Given the description of an element on the screen output the (x, y) to click on. 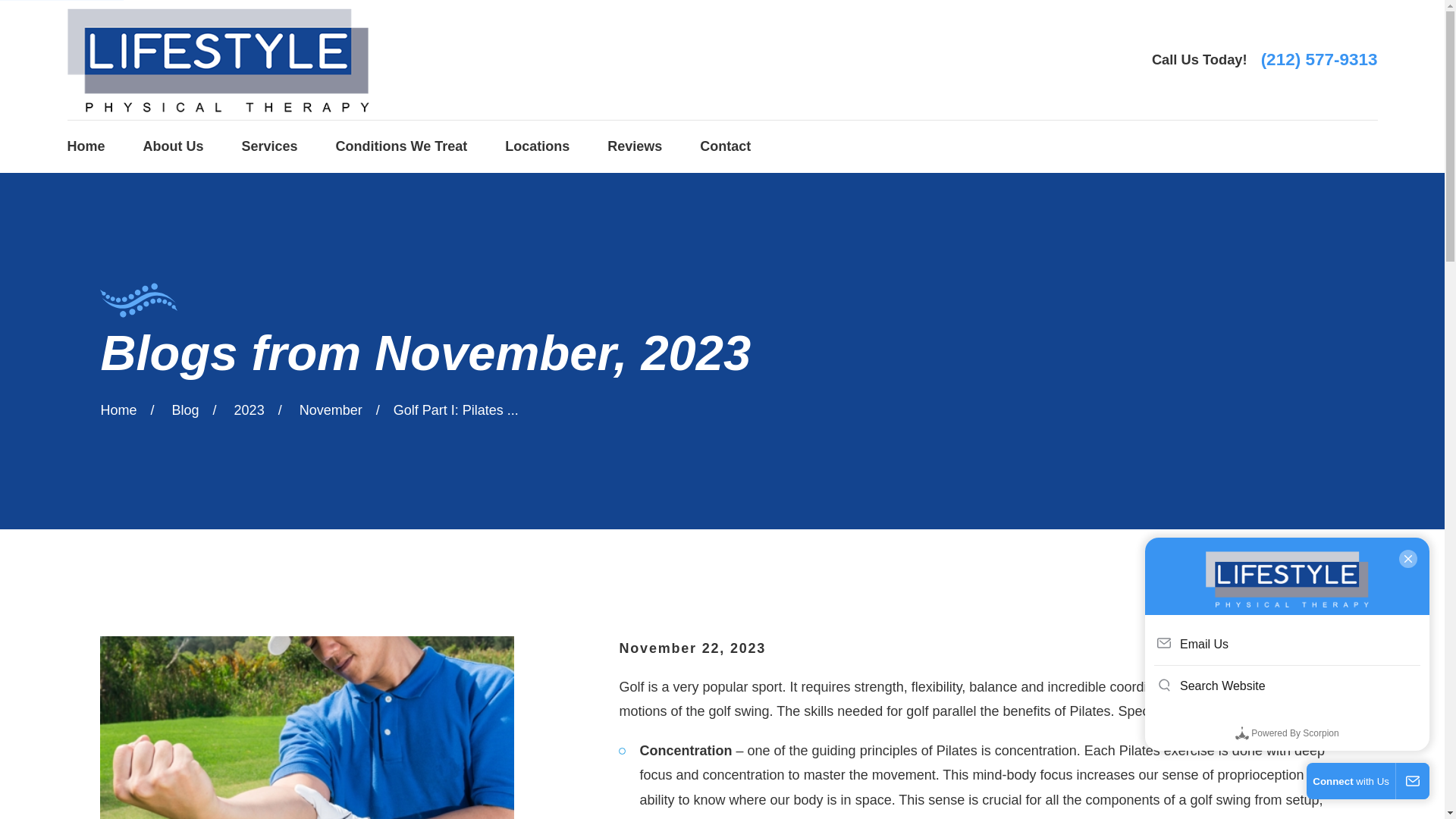
Reviews (634, 146)
Locations (537, 146)
Services (269, 146)
Home (217, 60)
Contact (725, 146)
Conditions We Treat (401, 146)
About Us (172, 146)
Go Home (118, 409)
Home (85, 146)
